Given the description of an element on the screen output the (x, y) to click on. 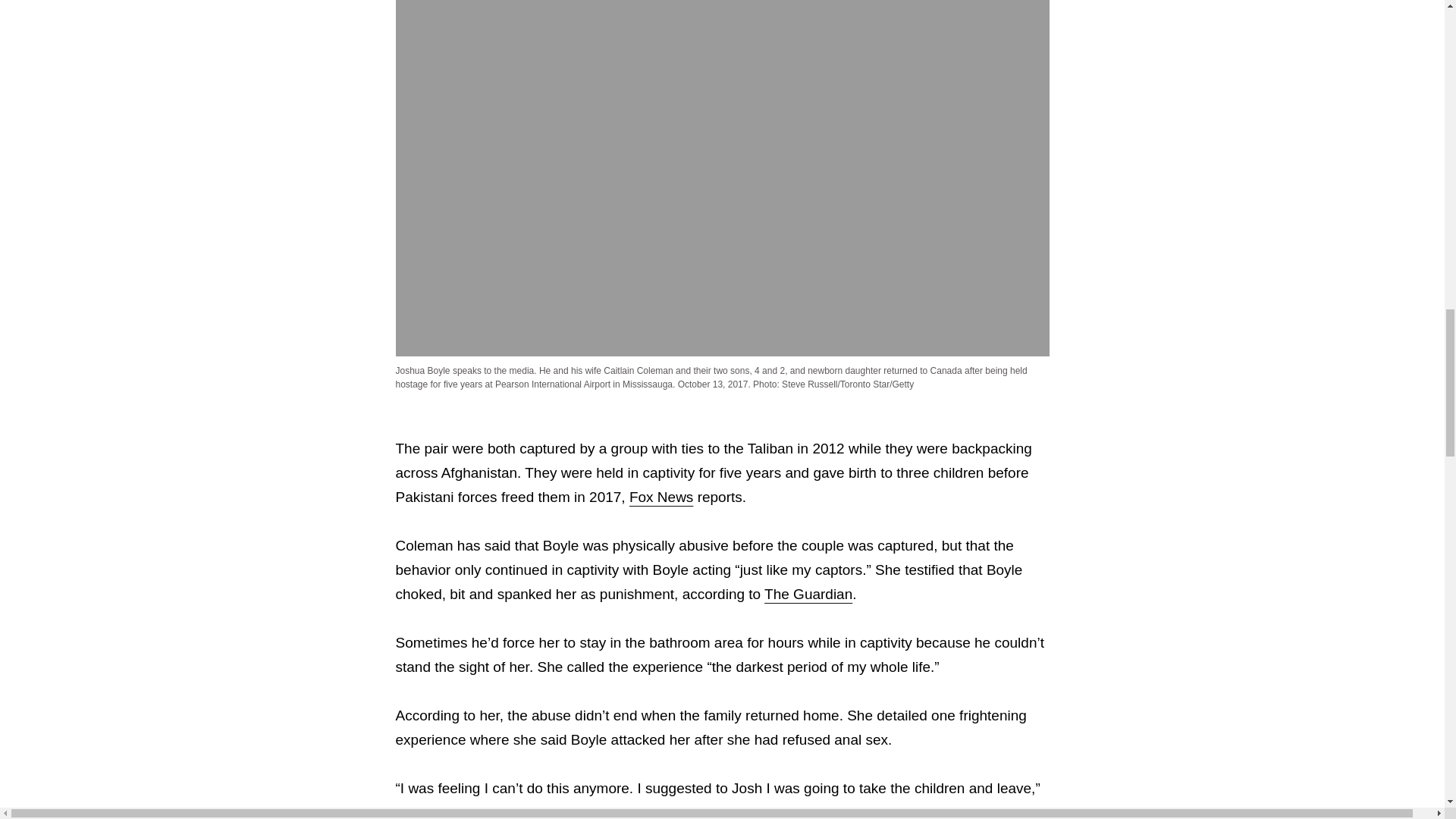
The Guardian (807, 593)
Fox News (660, 496)
